Given the description of an element on the screen output the (x, y) to click on. 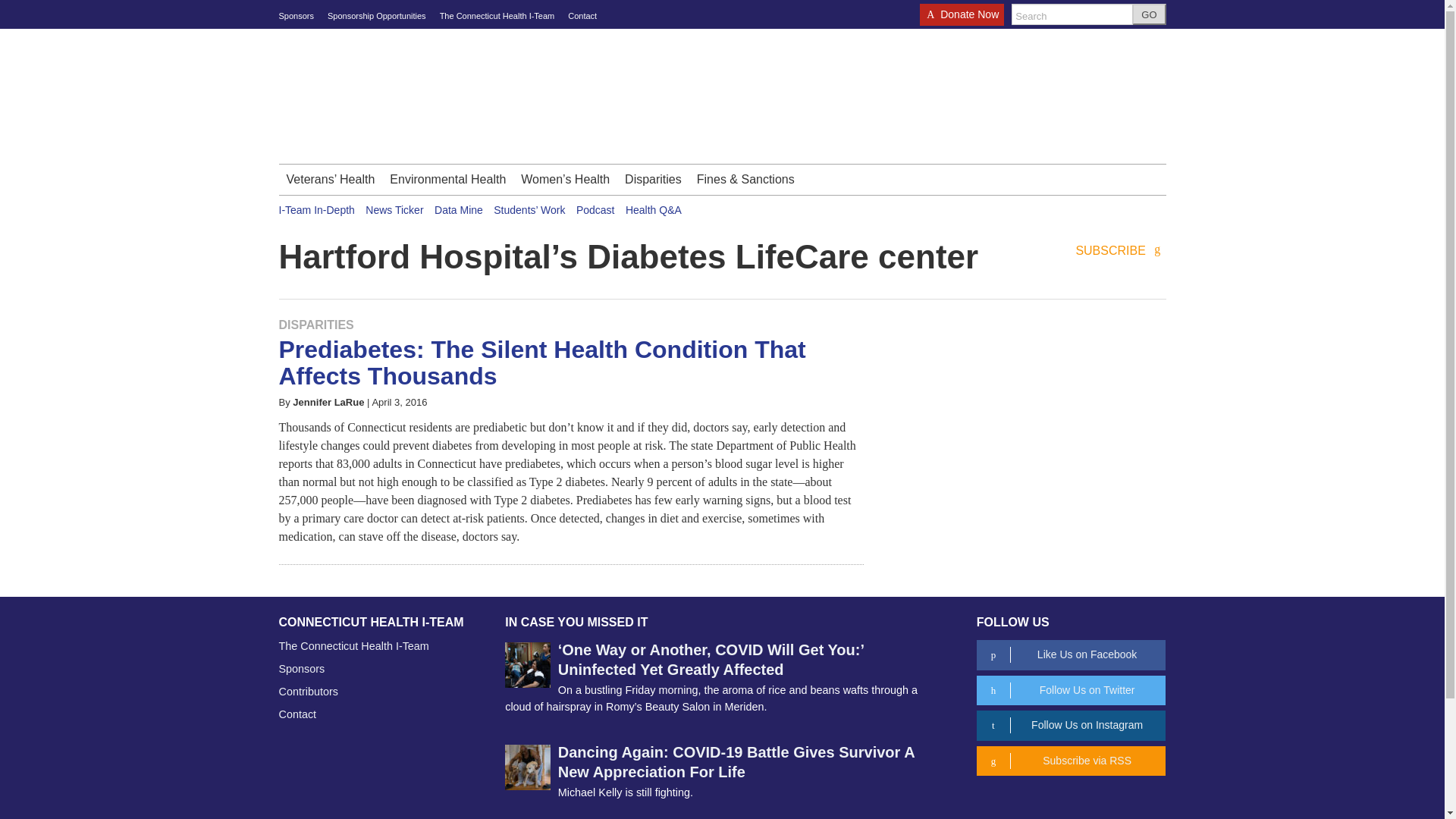
I-Team In-Depth (317, 209)
SUBSCRIBE (1120, 251)
Environmental Health (447, 179)
Disparities (652, 179)
More from Jennifer LaRue (328, 401)
GO (1149, 14)
Contact (581, 15)
Data Mine (458, 209)
The Connecticut Health I-Team (496, 15)
